Given the description of an element on the screen output the (x, y) to click on. 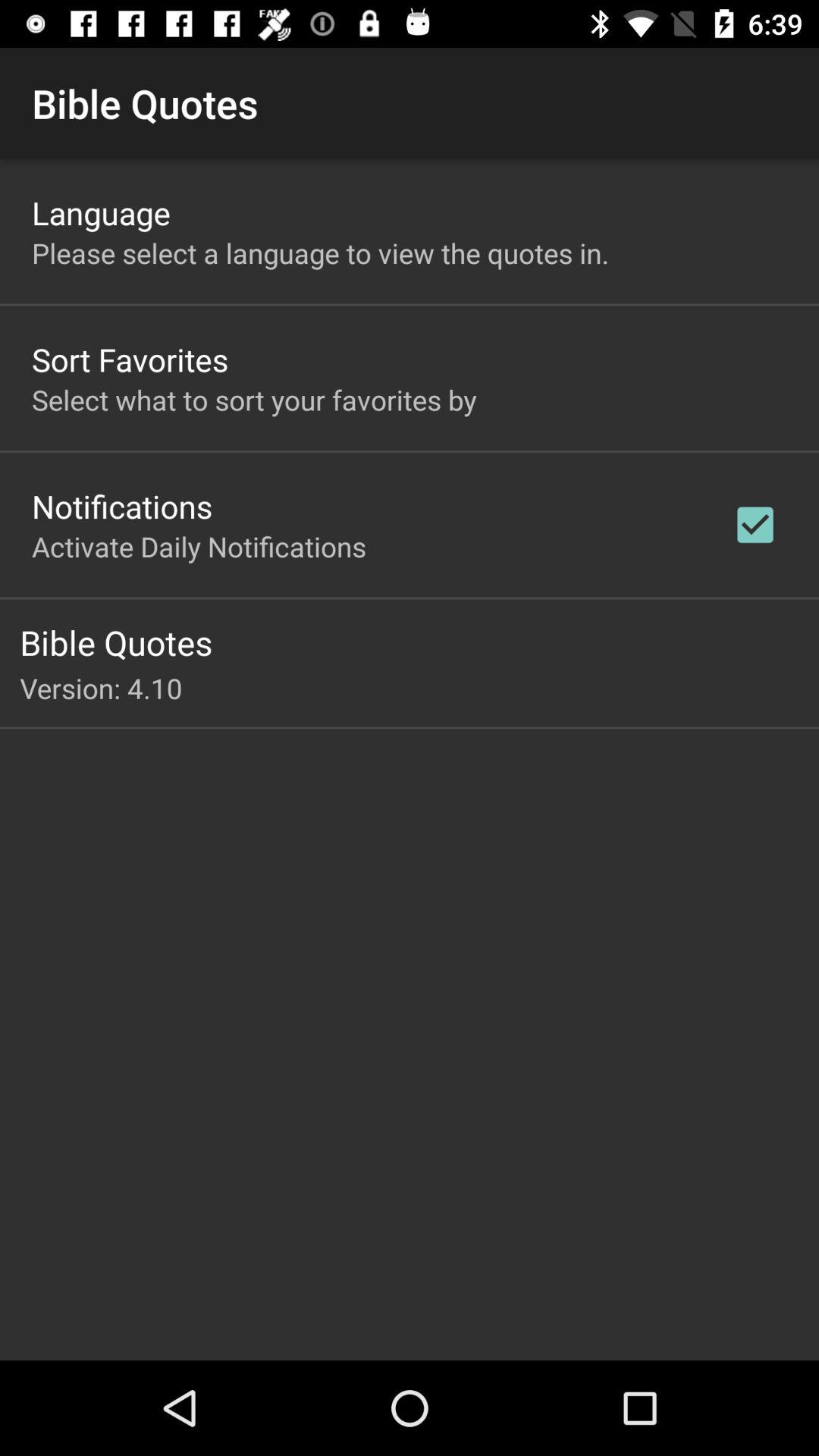
launch version: 4.10 app (419, 687)
